Given the description of an element on the screen output the (x, y) to click on. 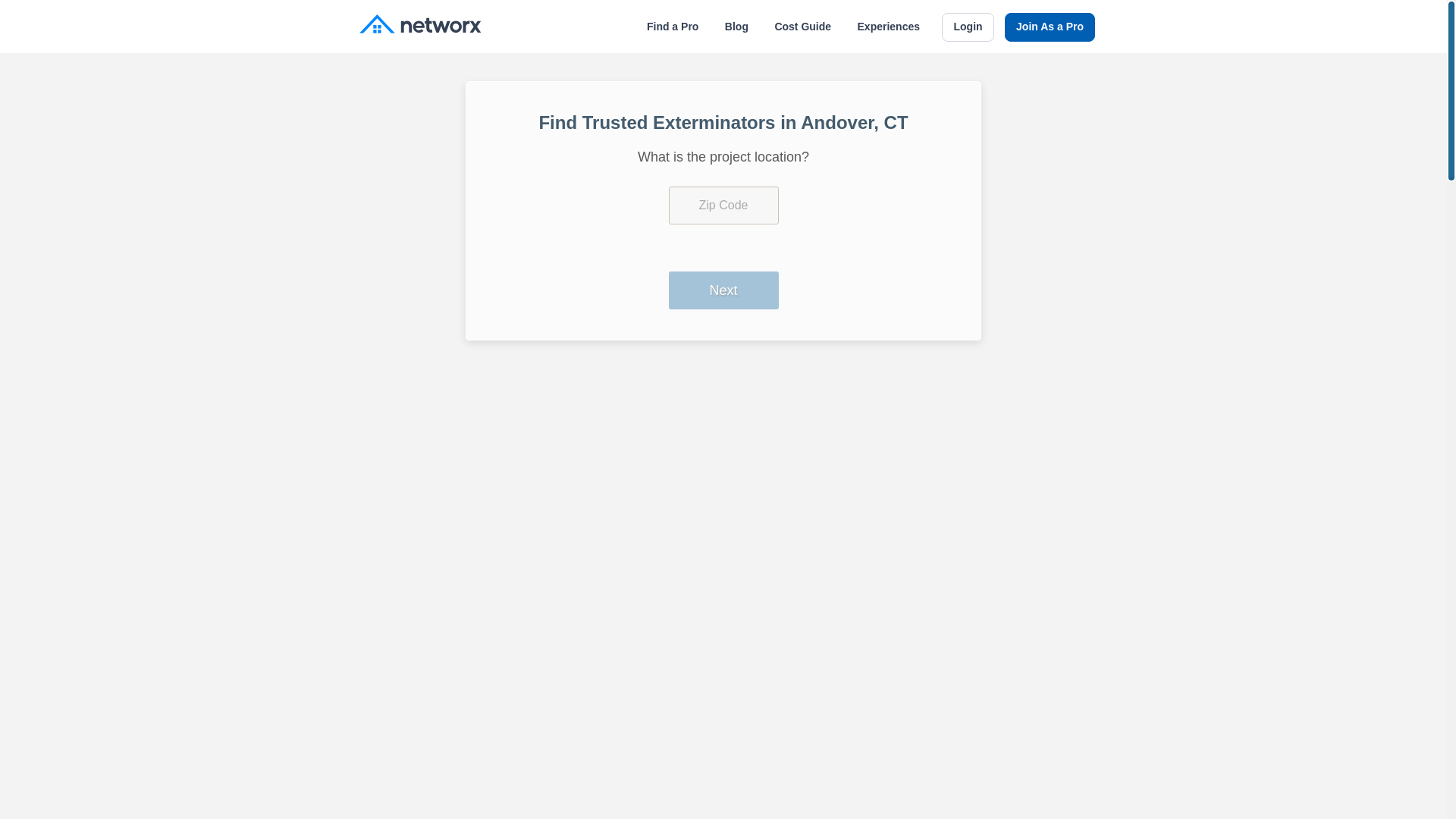
Cost Guide (802, 26)
Next (723, 290)
Login (967, 27)
Join As a Pro (1049, 27)
Find a Pro (672, 26)
Please enter a valid zip code (723, 205)
Networx (419, 25)
Experiences (888, 26)
